Given the description of an element on the screen output the (x, y) to click on. 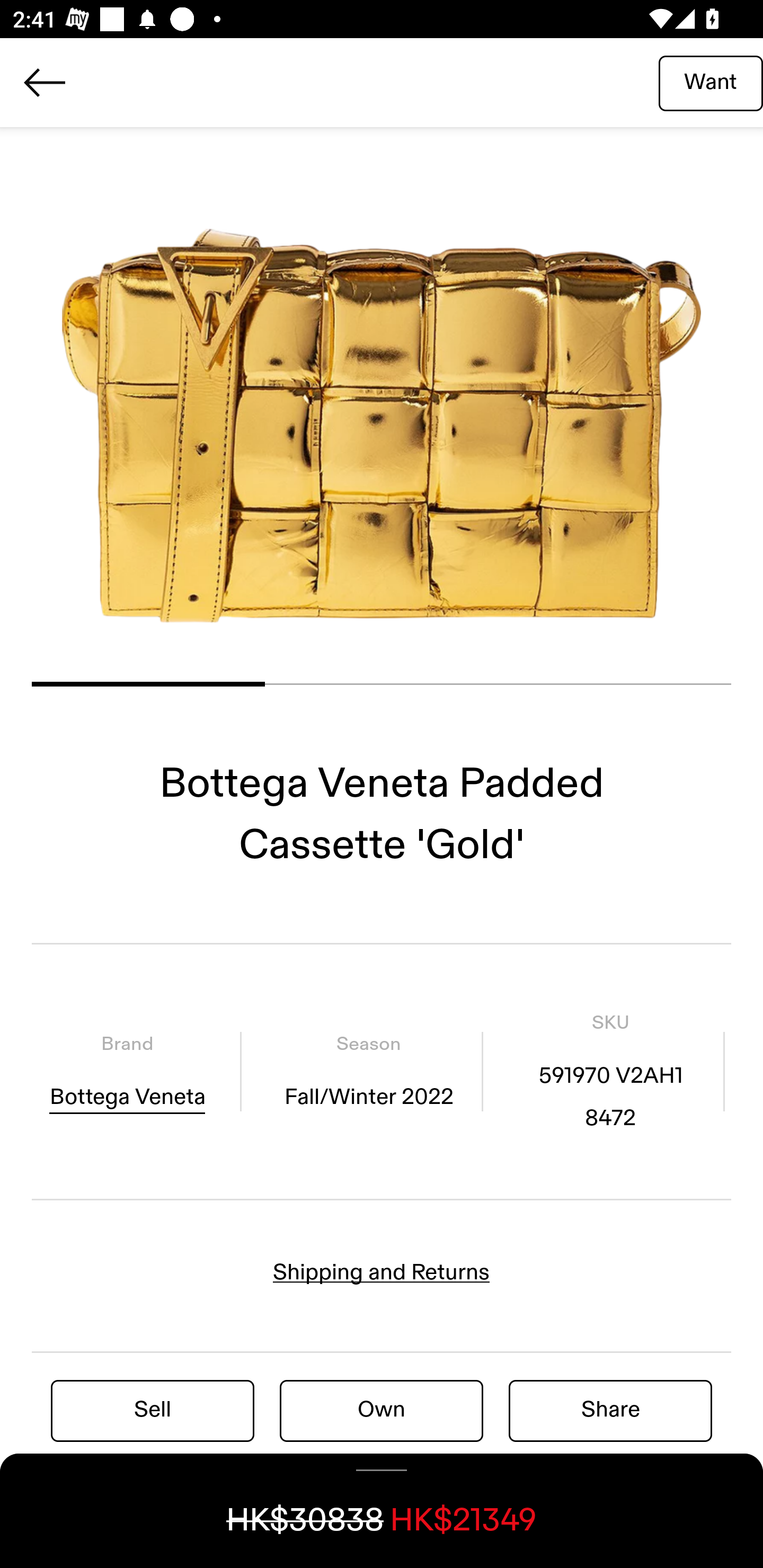
Want (710, 82)
Brand Bottega Veneta (126, 1070)
Season Fall/Winter 2022 (368, 1070)
SKU 591970 V2AH1 8472 (609, 1070)
Shipping and Returns (381, 1272)
Sell (152, 1410)
Own (381, 1410)
Share (609, 1410)
HK$30838 HK$21349 (381, 1510)
